Given the description of an element on the screen output the (x, y) to click on. 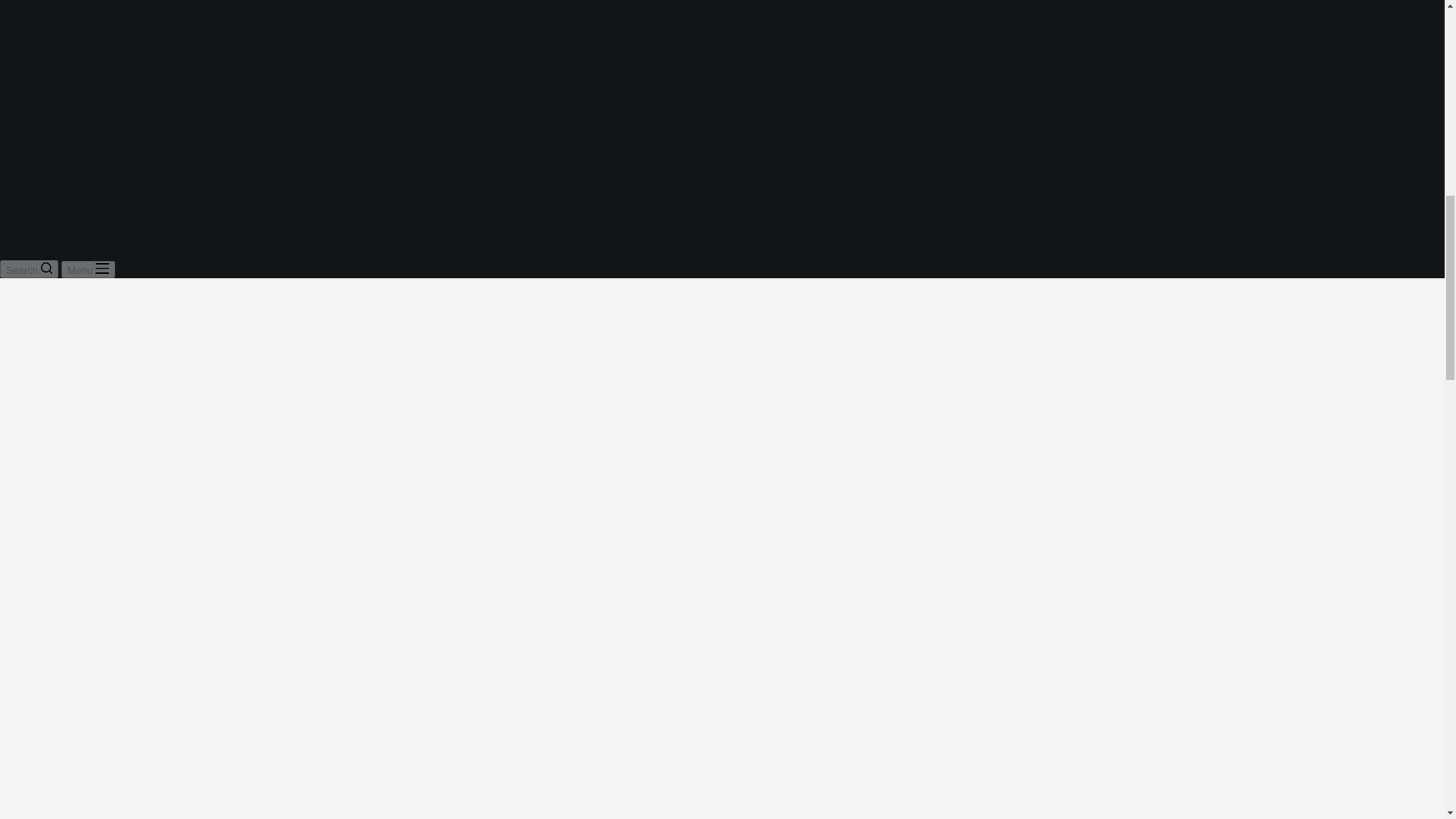
Menu (88, 269)
Search (29, 269)
